Given the description of an element on the screen output the (x, y) to click on. 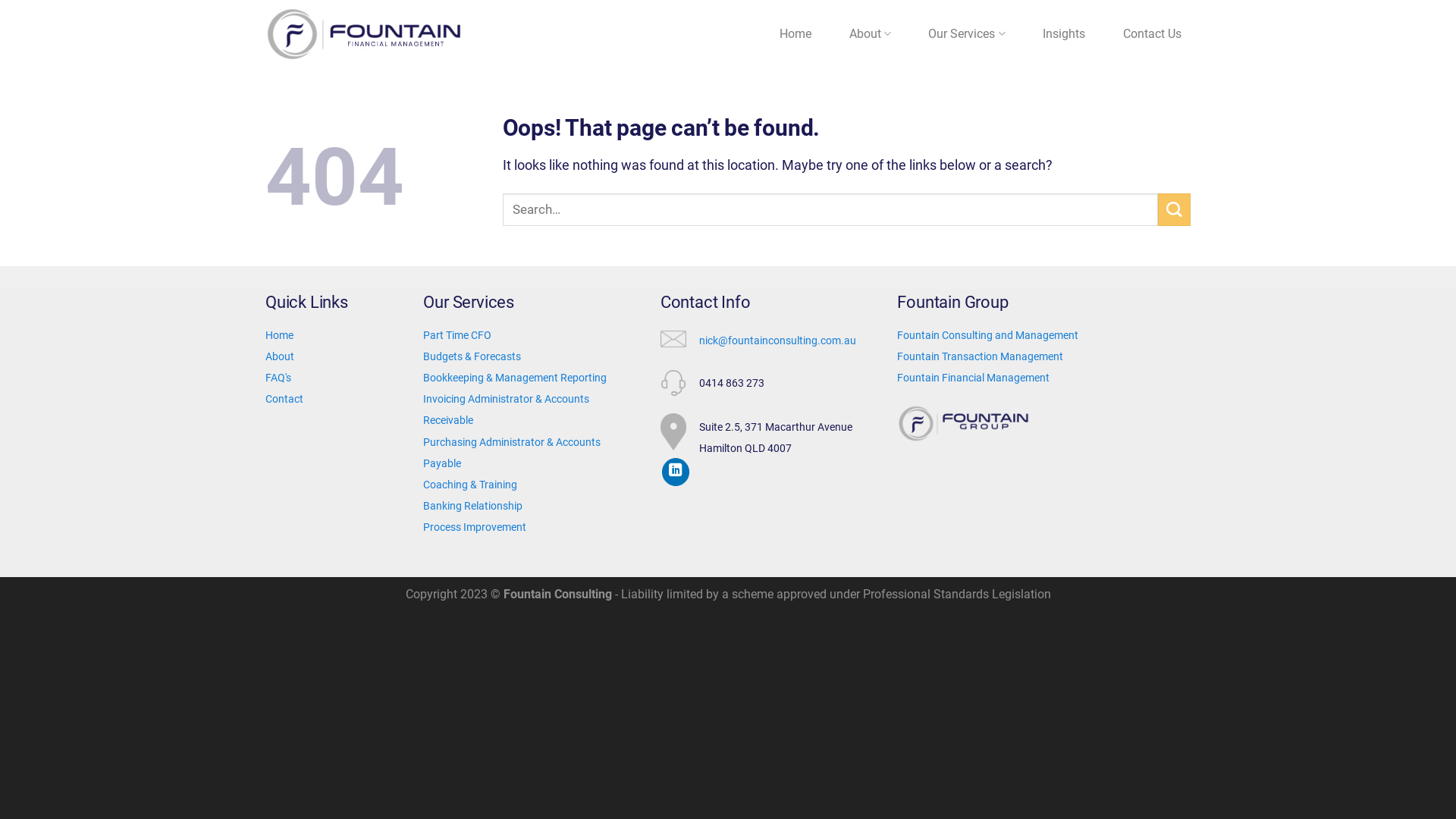
Purchasing Administrator & Accounts Payable Element type: text (511, 452)
Budgets & Forecasts Element type: text (471, 356)
Follow on LinkedIn Element type: hover (675, 472)
About Element type: text (279, 356)
About Element type: text (870, 34)
Banking Relationship Element type: text (472, 505)
Fountain Consulting and Management Element type: text (987, 335)
Contact  Element type: text (285, 398)
Coaching & Training Element type: text (470, 484)
Home  Element type: text (280, 334)
nick@fountainconsulting.com.au Element type: text (777, 340)
Fountain Financial Management Element type: text (973, 377)
Invoicing Administrator & Accounts Receivable Element type: text (506, 409)
Process Improvement Element type: text (474, 526)
Our Services Element type: text (966, 34)
Contact Us Element type: text (1151, 34)
Part Time CFO Element type: text (457, 335)
Home Element type: text (795, 34)
Fountain Transaction Management Element type: text (980, 356)
FAQ's Element type: text (278, 377)
Insights Element type: text (1064, 34)
Bookkeeping & Management Reporting Element type: text (514, 377)
